Given the description of an element on the screen output the (x, y) to click on. 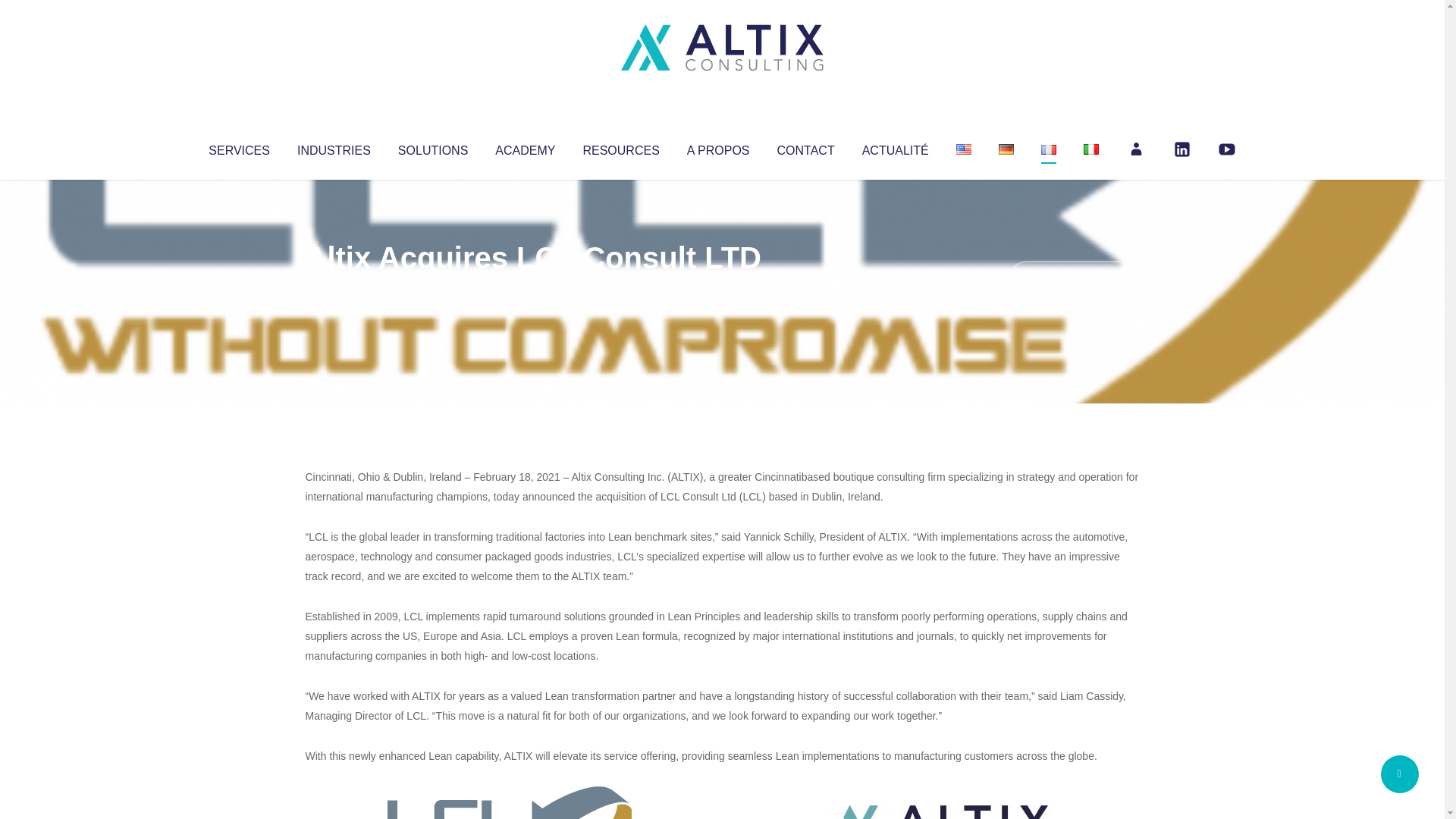
SOLUTIONS (432, 146)
ACADEMY (524, 146)
Uncategorized (530, 287)
SERVICES (238, 146)
Altix (333, 287)
A PROPOS (718, 146)
RESOURCES (620, 146)
INDUSTRIES (334, 146)
No Comments (1073, 278)
Articles par Altix (333, 287)
